Given the description of an element on the screen output the (x, y) to click on. 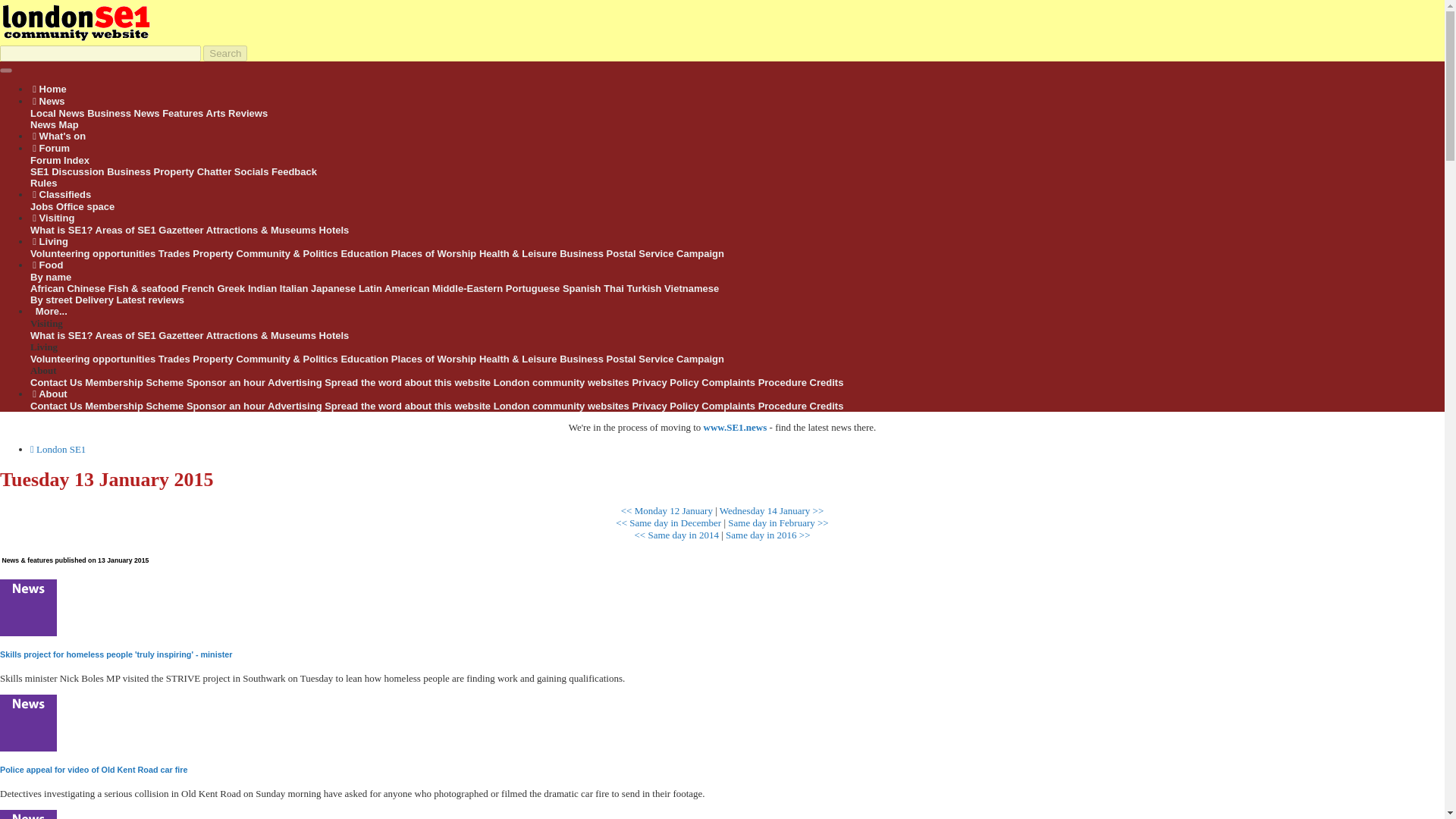
Living (50, 241)
Local News (57, 112)
Local business groups and support services (581, 253)
Feedback (293, 171)
Forum (50, 147)
Education (364, 253)
From primary schools to universities (364, 253)
Classifieds (61, 194)
Gazetteer (180, 229)
Volunteering opportunities (92, 253)
Where to stay (333, 229)
Food (47, 265)
What's on (58, 135)
Office space (85, 206)
Police, politics and more (286, 253)
